Given the description of an element on the screen output the (x, y) to click on. 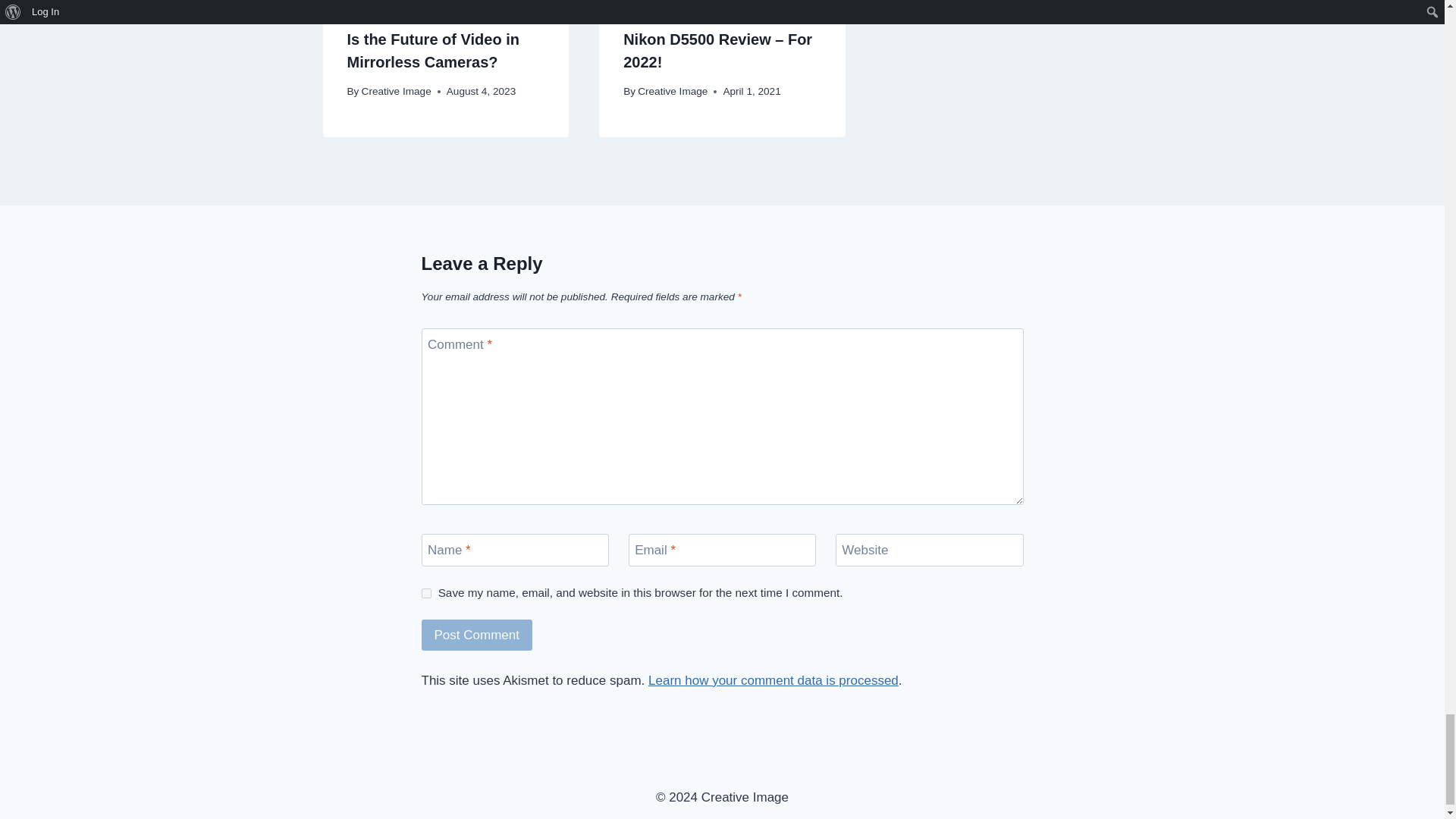
yes (426, 593)
Post Comment (477, 634)
Creative Image (672, 91)
Creative Image (395, 91)
Is the Future of Video in Mirrorless Cameras? (433, 50)
